Given the description of an element on the screen output the (x, y) to click on. 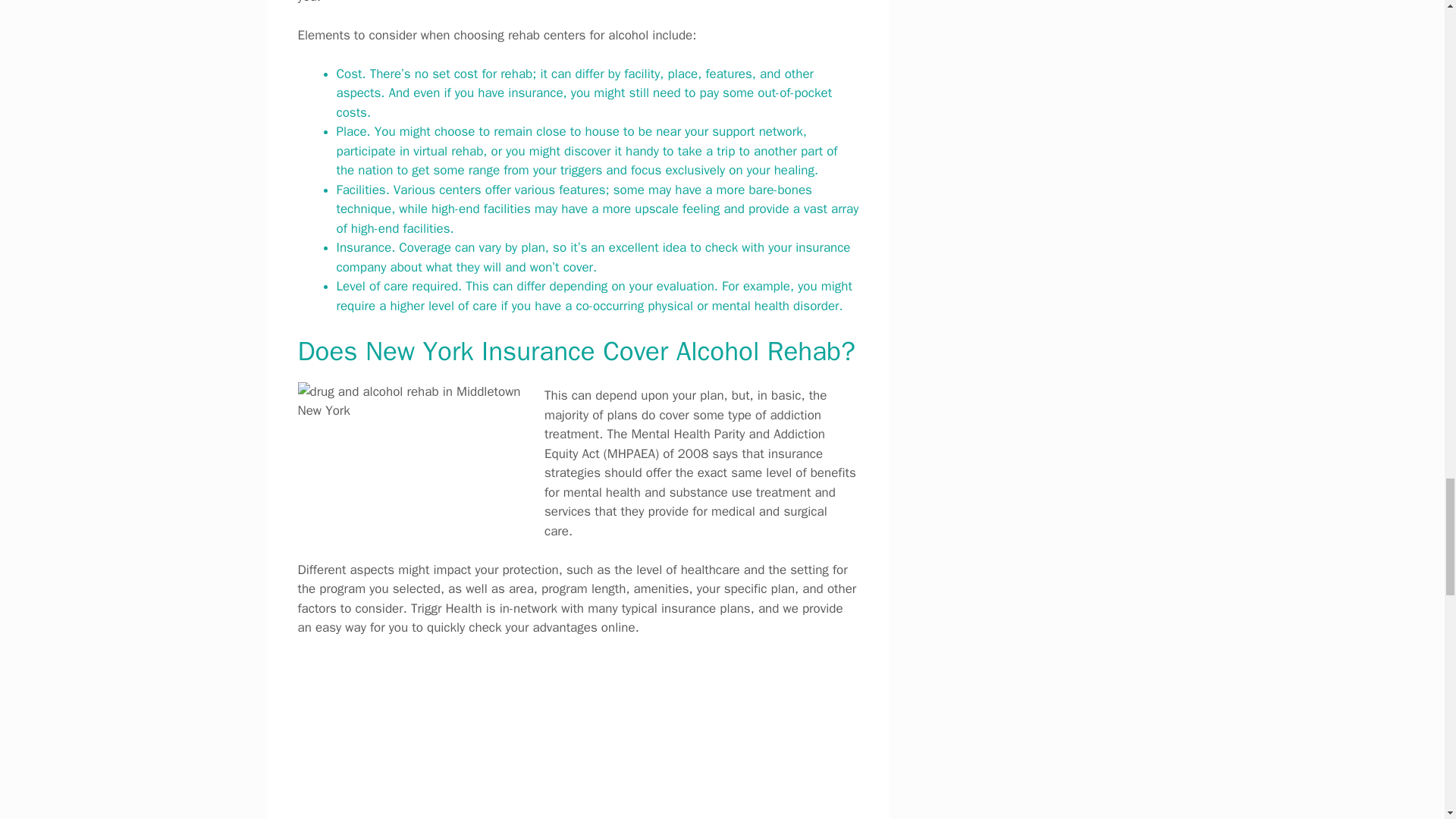
YouTube video player (577, 737)
